Given the description of an element on the screen output the (x, y) to click on. 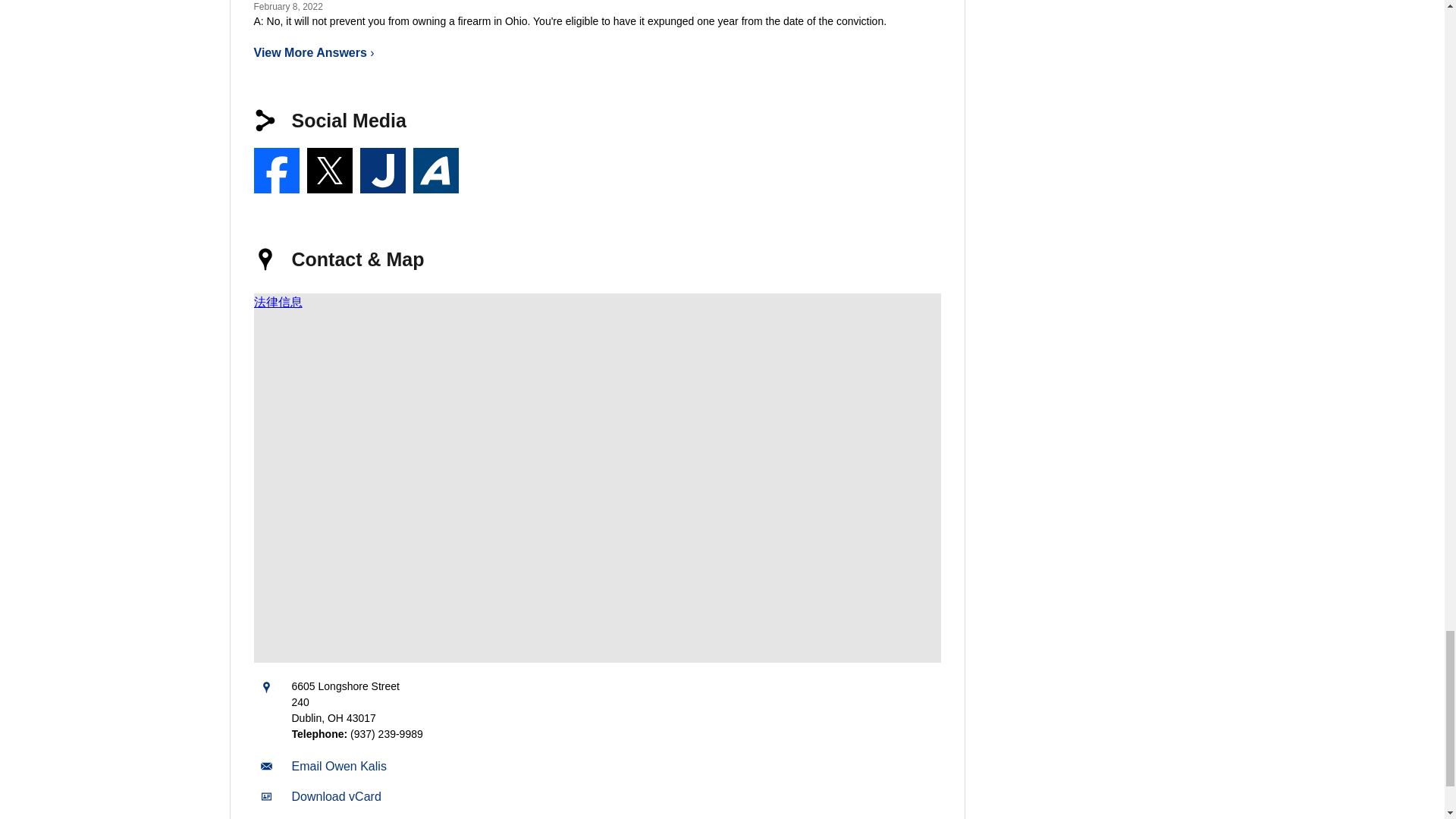
Owen Kalis's Avvo Profile (435, 170)
Download vCard (335, 796)
X (328, 170)
 Justia Profile (381, 170)
Owen Kalis's Avvo Profile (435, 170)
Facebook (275, 170)
Justia Profile (381, 170)
Owen Kalis on Facebook (275, 170)
Email Owen Kalis (338, 766)
